Given the description of an element on the screen output the (x, y) to click on. 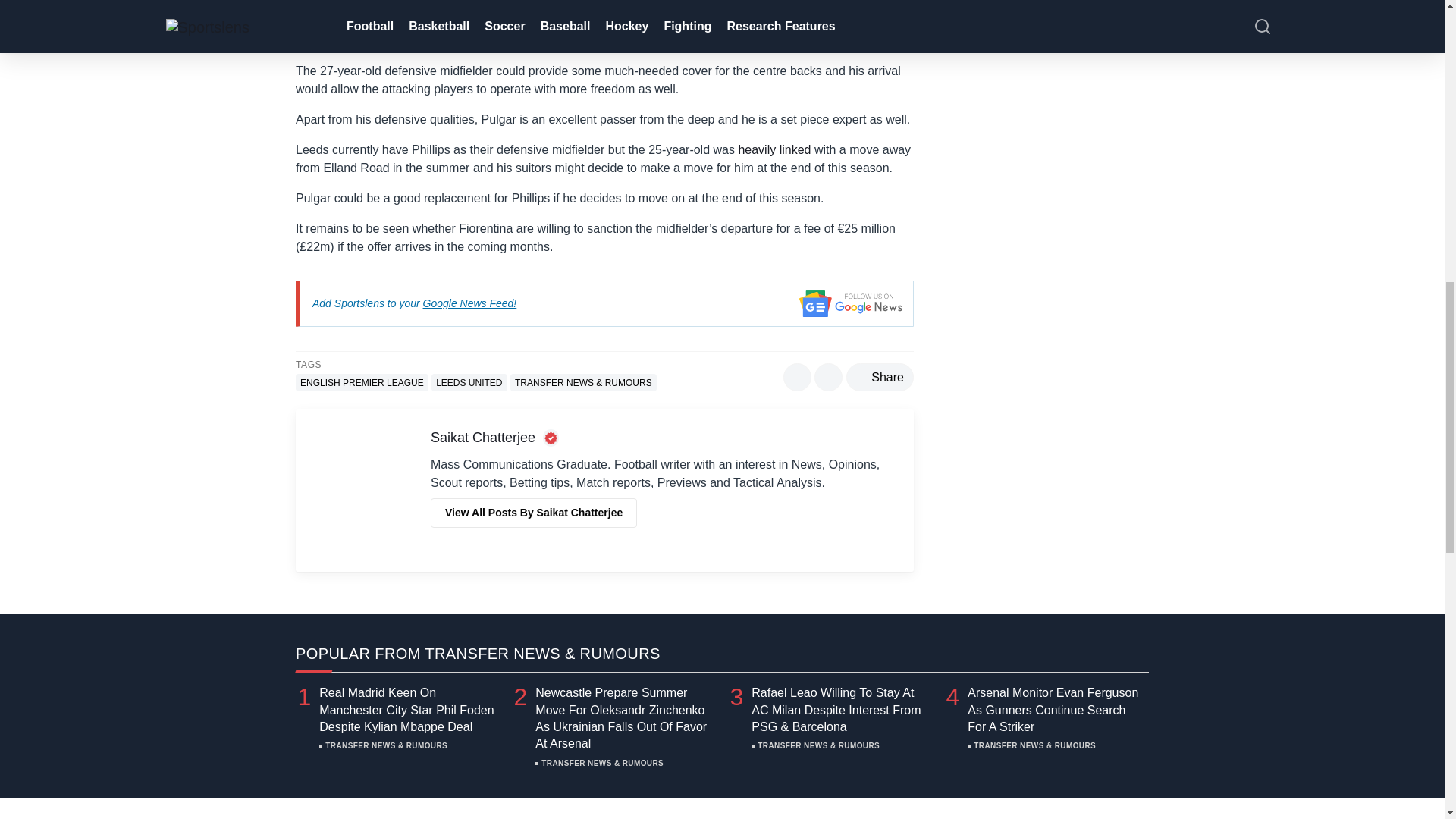
Share (879, 377)
View All Posts By Saikat Chatterjee (533, 512)
ENGLISH PREMIER LEAGUE (361, 382)
LEEDS UNITED (468, 382)
heavily linked (774, 149)
Google News Feed! (469, 303)
